Given the description of an element on the screen output the (x, y) to click on. 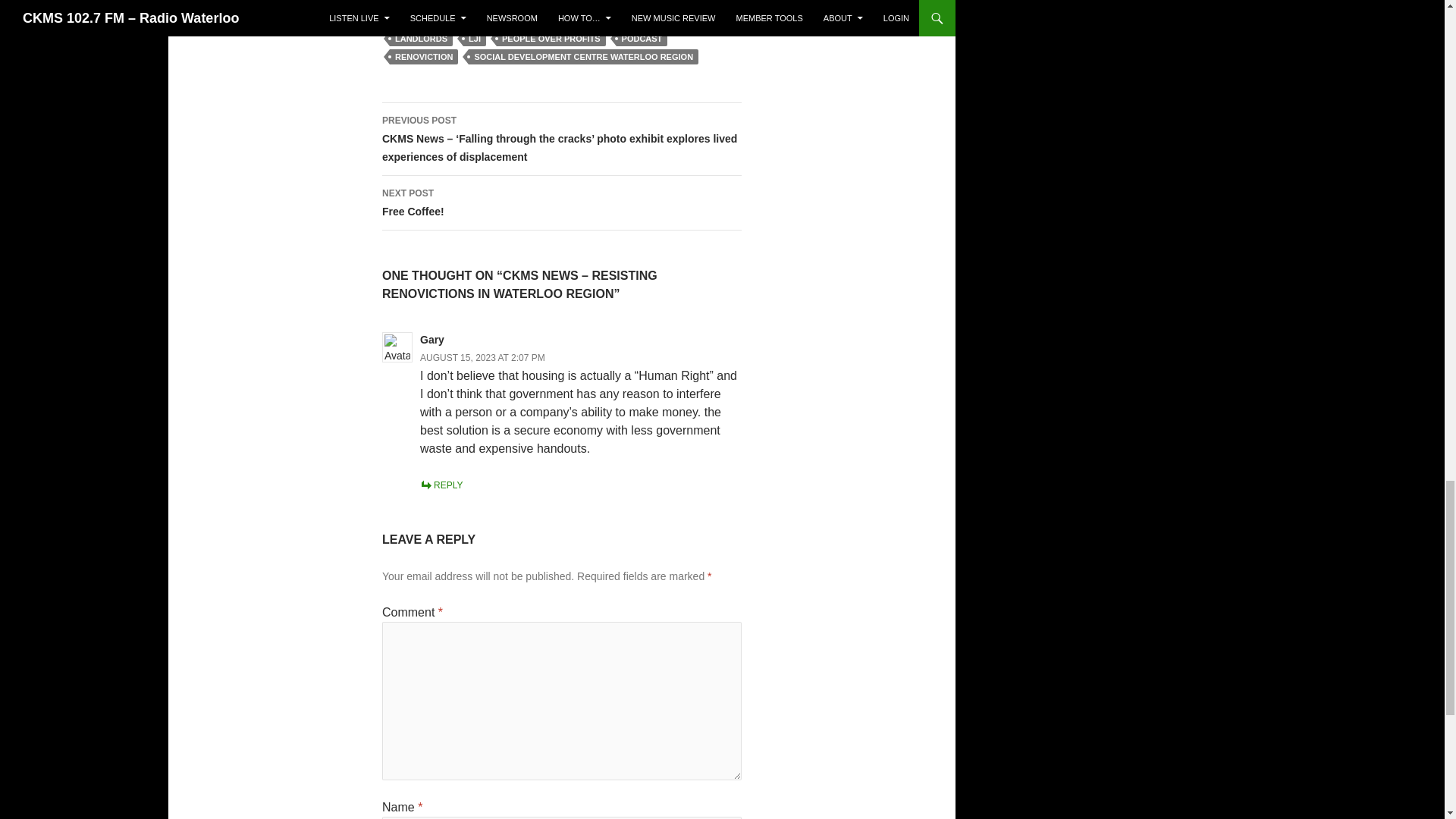
HOUSING (643, 20)
LANDLORDS (421, 38)
DOUG FORD (420, 20)
EVICTIONS (488, 20)
HOMELESSNESS (568, 20)
